Given the description of an element on the screen output the (x, y) to click on. 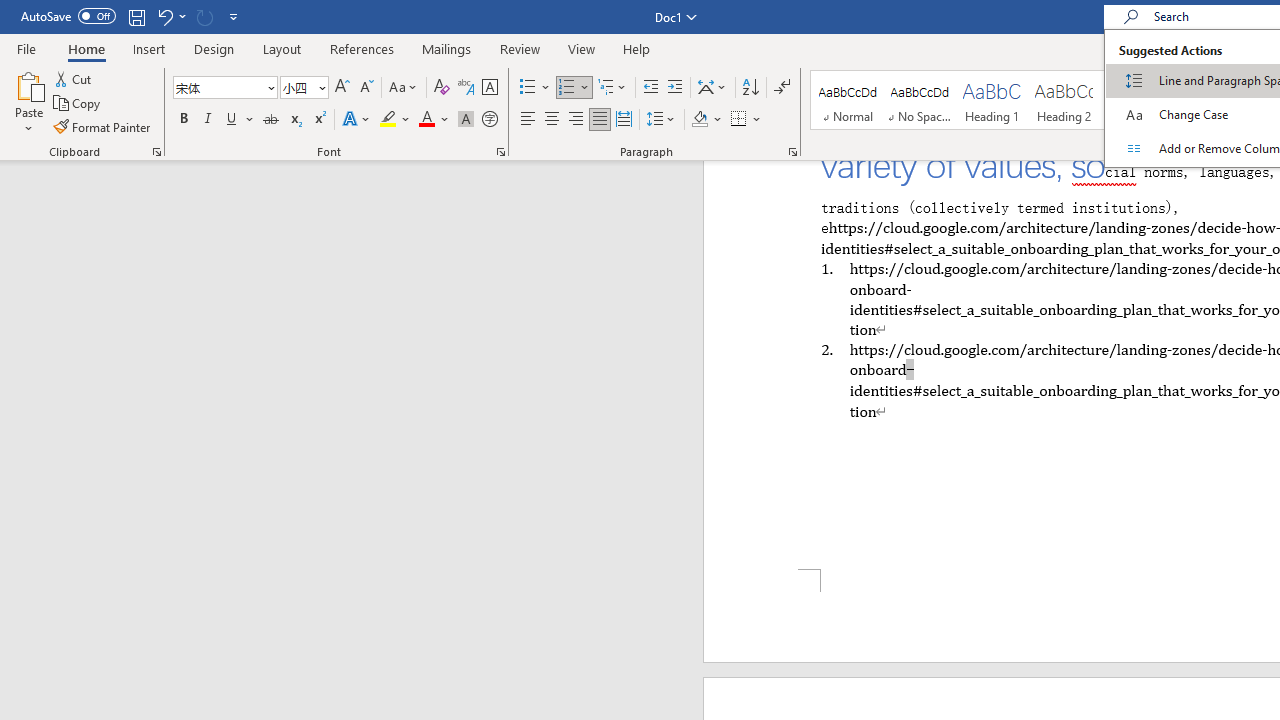
Italic (207, 119)
More Options (757, 119)
Can't Repeat (204, 15)
Customize Quick Access Toolbar (234, 15)
Font Size (297, 87)
Align Left (527, 119)
Asian Layout (712, 87)
Heading 2 (1063, 100)
Font (218, 87)
Subscript (294, 119)
Align Right (575, 119)
Underline (232, 119)
Save (136, 15)
Heading 4 (1208, 100)
References (362, 48)
